Given the description of an element on the screen output the (x, y) to click on. 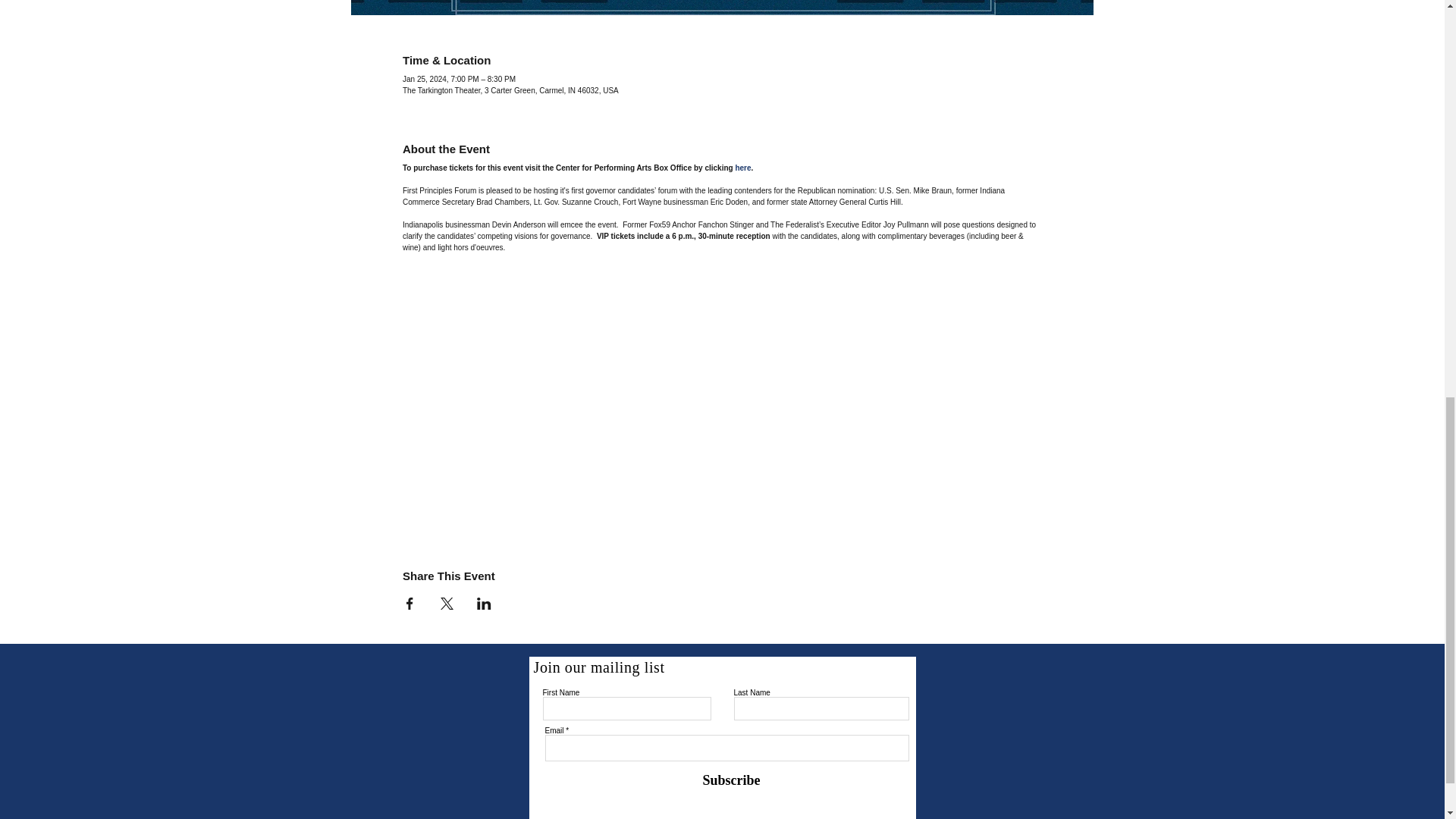
here (743, 167)
Subscribe (722, 780)
